Given the description of an element on the screen output the (x, y) to click on. 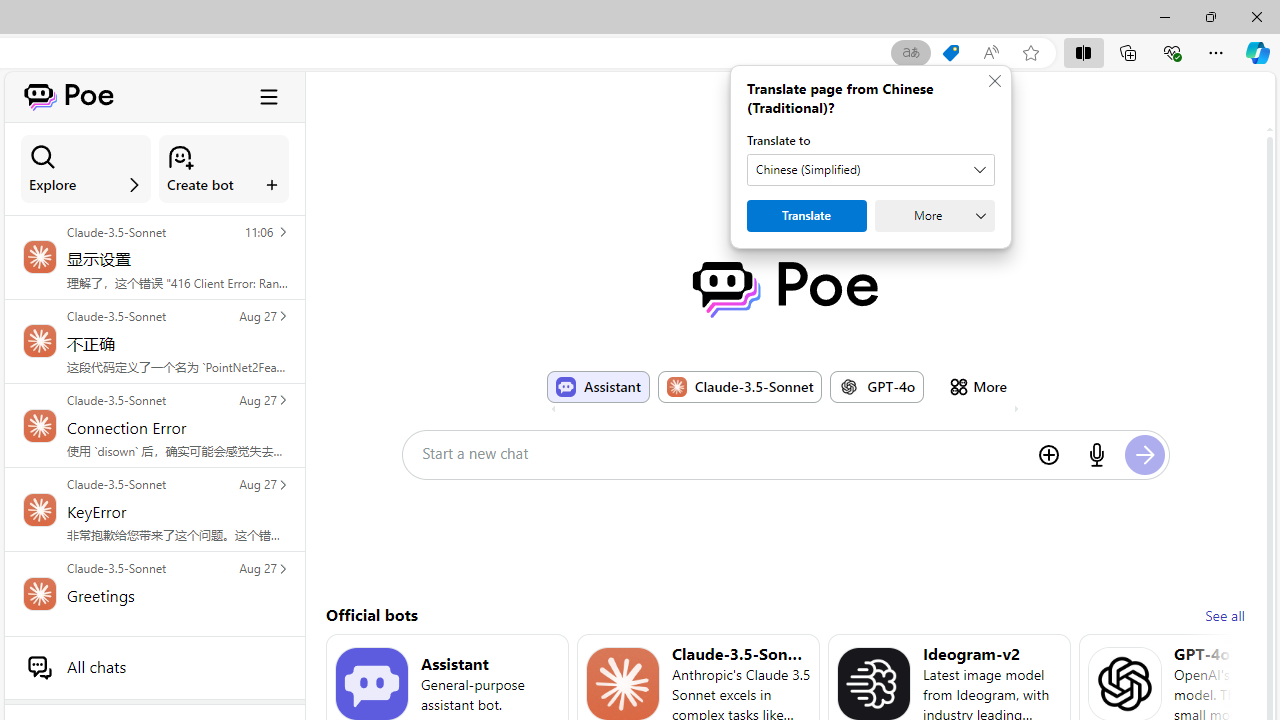
Bot image for Claude-3.5-Sonnet Claude-3.5-Sonnet (739, 386)
Toggle sidebar collapse (269, 96)
Class: ChatHistoryListItem_chevronIcon__zJZSN (282, 568)
Translate (806, 215)
Bot image for Assistant (371, 683)
Bot image for Claude-3.5-Sonnet (623, 683)
Explore (85, 169)
Class: ManageBotsCardSection_createBotIcon__9JUYg (180, 157)
Class: ManageBotsCardSection_labelIcon__EjW_j (271, 183)
Poe (785, 289)
This site has coupons! Shopping in Microsoft Edge (950, 53)
